Given the description of an element on the screen output the (x, y) to click on. 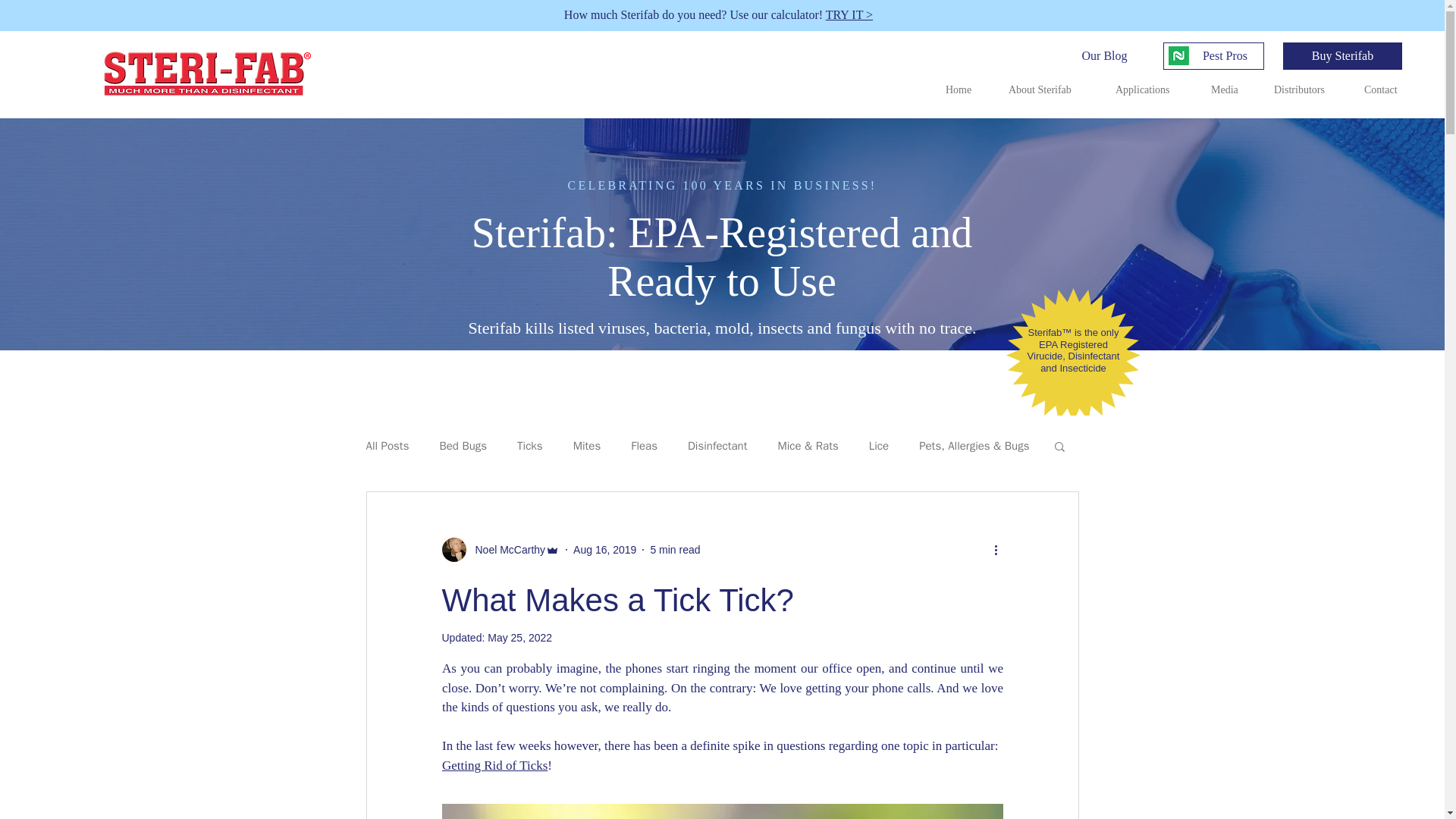
Our Blog (1104, 55)
Contact (1388, 89)
Media (1230, 89)
Noel McCarthy (504, 549)
Distributors (1307, 89)
Bed Bugs (462, 445)
Buy Sterifab (1342, 55)
Mites (587, 445)
5 min read (674, 548)
May 25, 2022 (519, 637)
All Posts (387, 445)
Pest Pros (1224, 55)
Home (965, 89)
Aug 16, 2019 (604, 548)
